Given the description of an element on the screen output the (x, y) to click on. 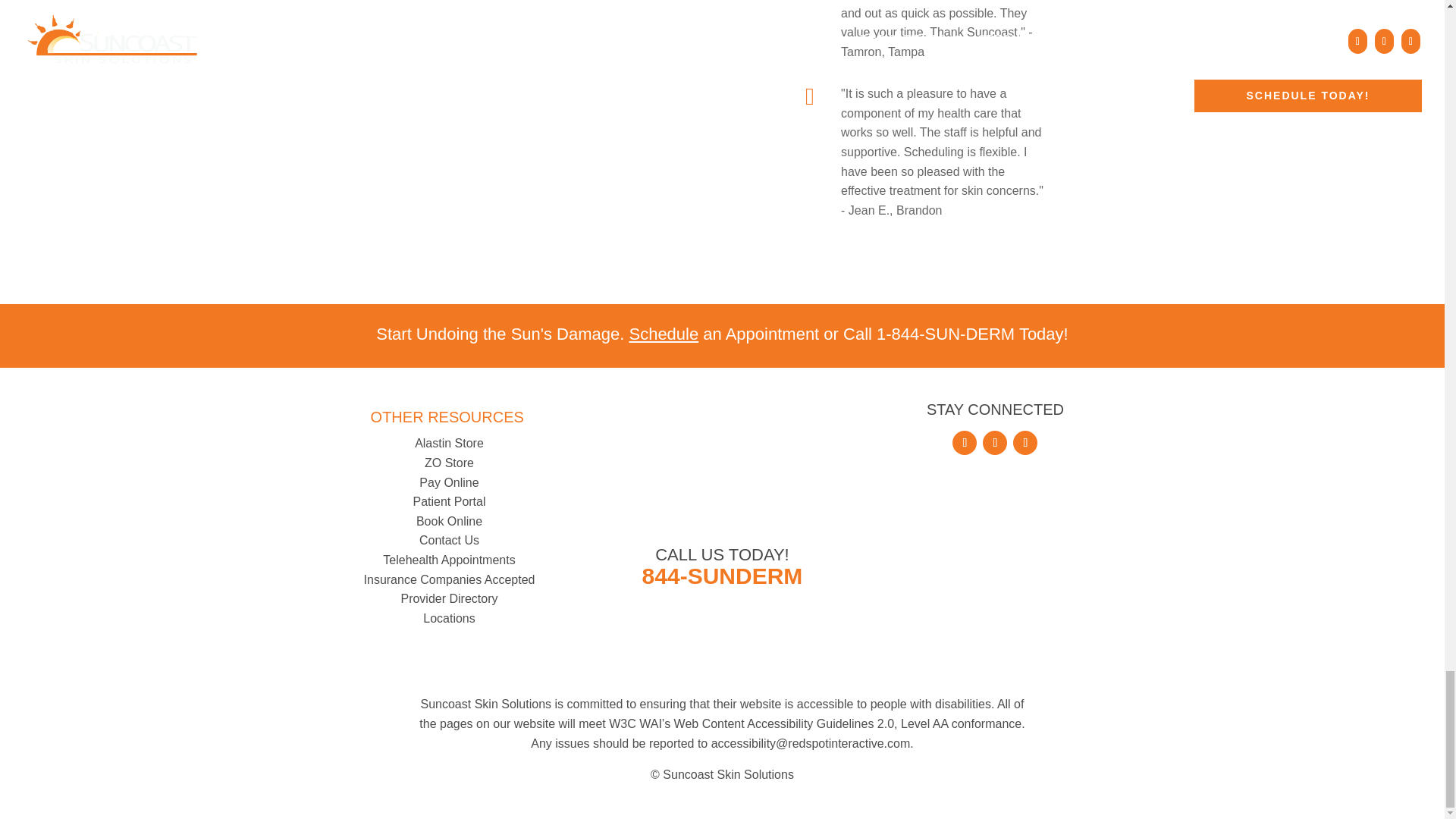
asds-logo-2 (994, 617)
Suncoast-Logo-2023 (722, 477)
Follow on Instagram (1024, 442)
logo-asds-cmyk-300x102 (994, 505)
Follow on X (994, 442)
Follow on Facebook (964, 442)
